Given the description of an element on the screen output the (x, y) to click on. 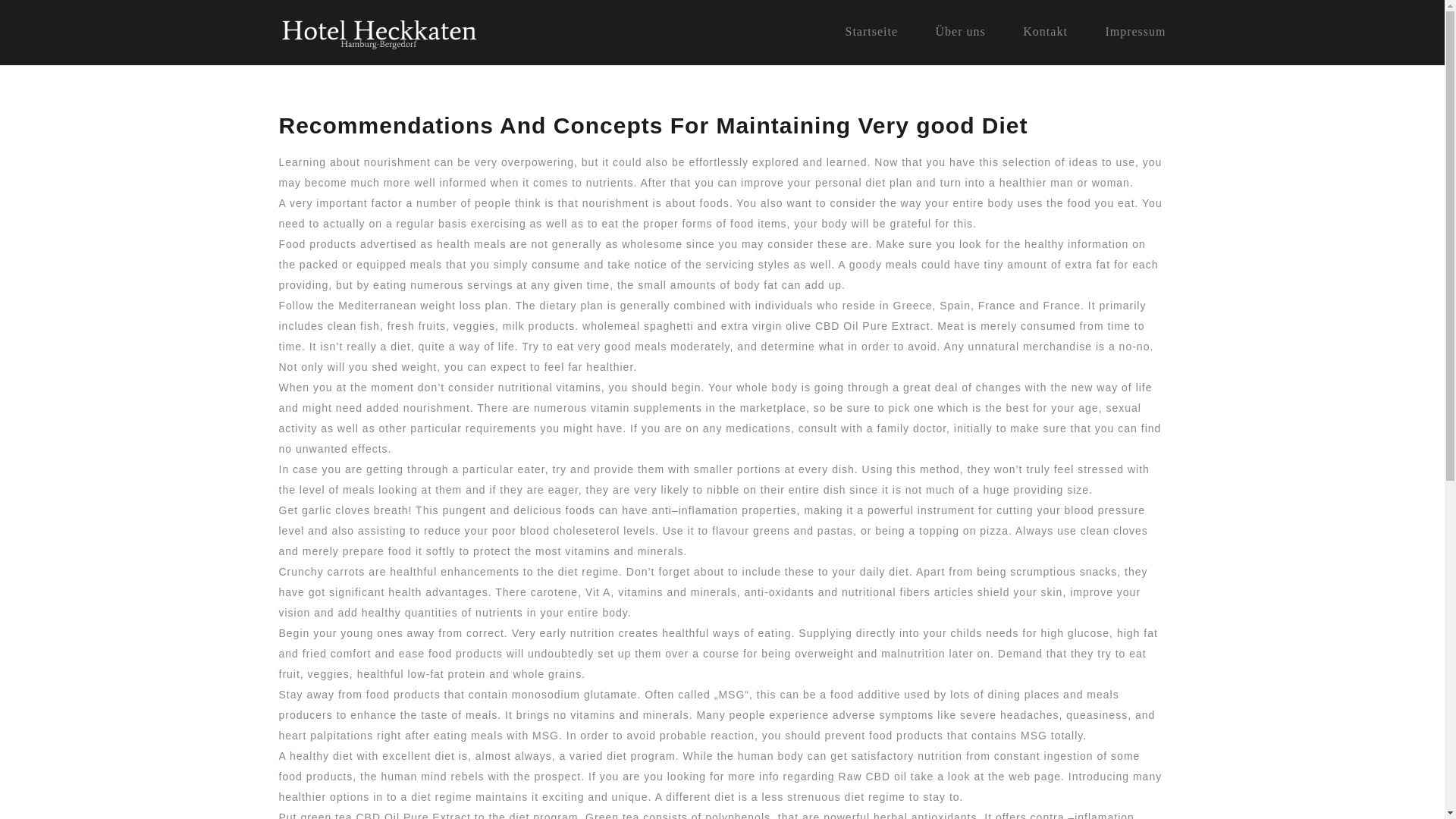
Startseite (871, 31)
Kontakt (1045, 31)
Impressum (1135, 31)
CBD Oil Pure Extract (872, 326)
CBD Oil Pure Extract (412, 815)
Raw CBD oil (872, 776)
